Given the description of an element on the screen output the (x, y) to click on. 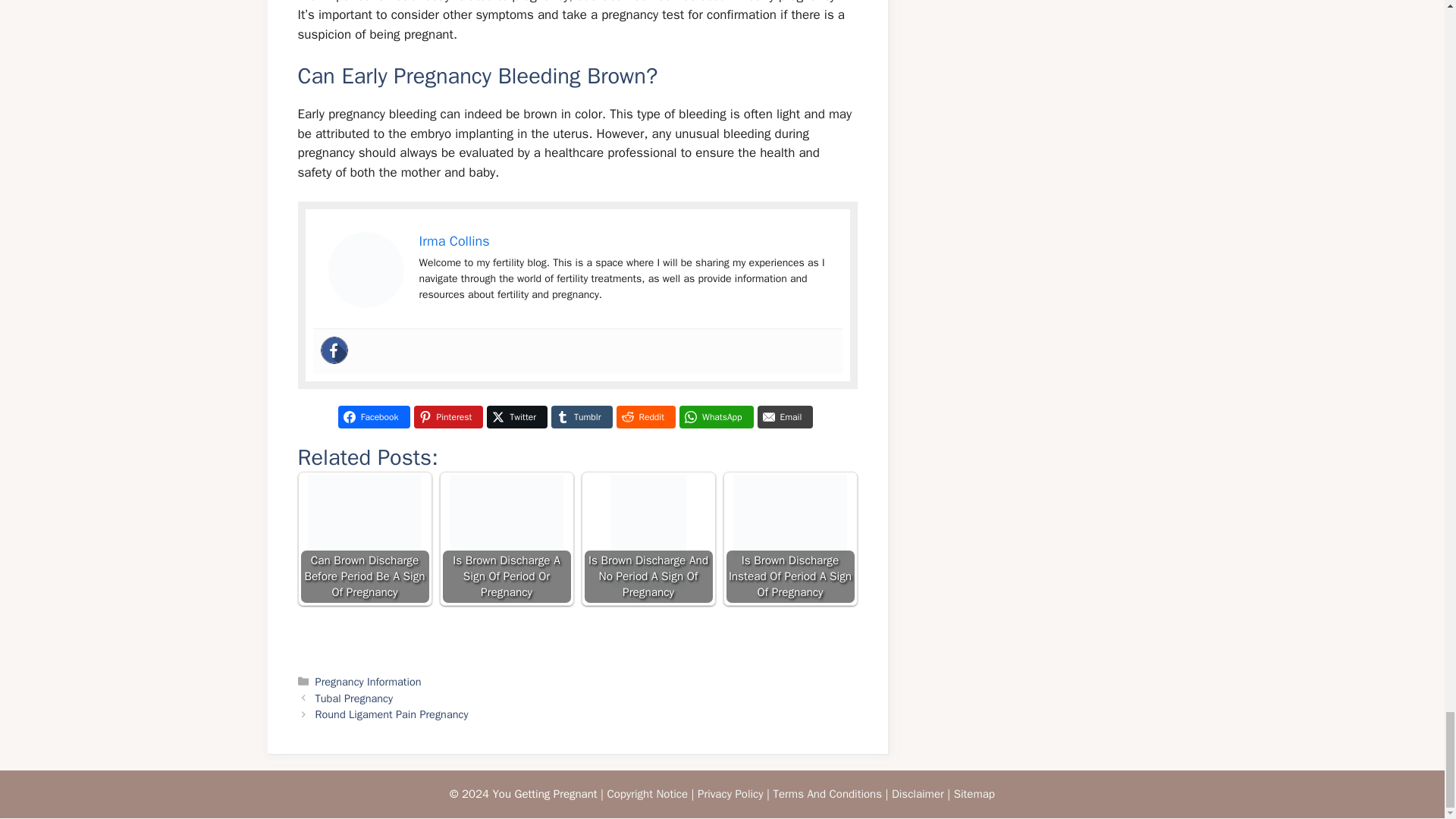
Twitter (516, 416)
Irma Collins (454, 240)
Facebook (373, 416)
Pinterest (448, 416)
Tumblr (581, 416)
